Given the description of an element on the screen output the (x, y) to click on. 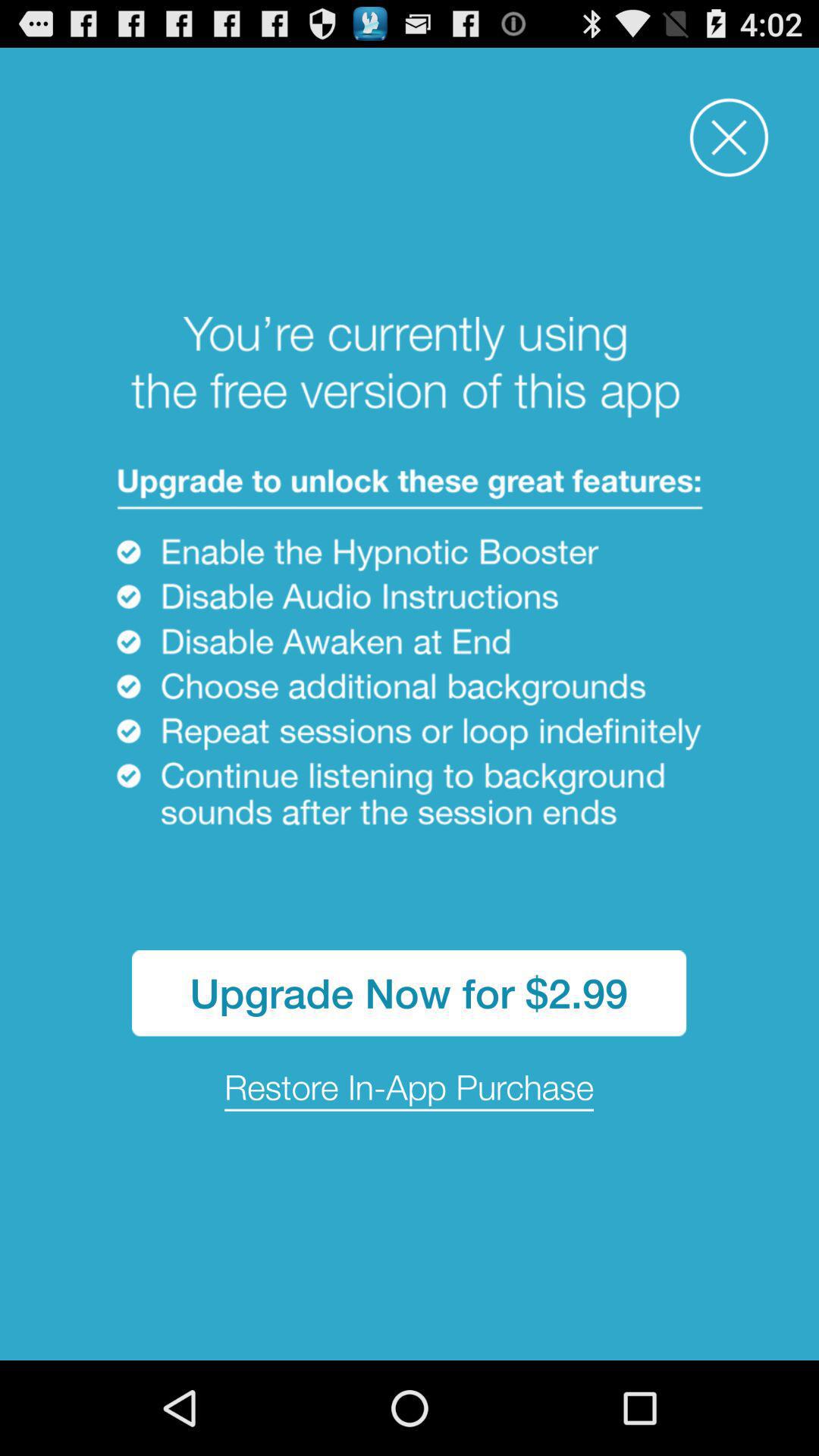
close the window exit the window (728, 137)
